Given the description of an element on the screen output the (x, y) to click on. 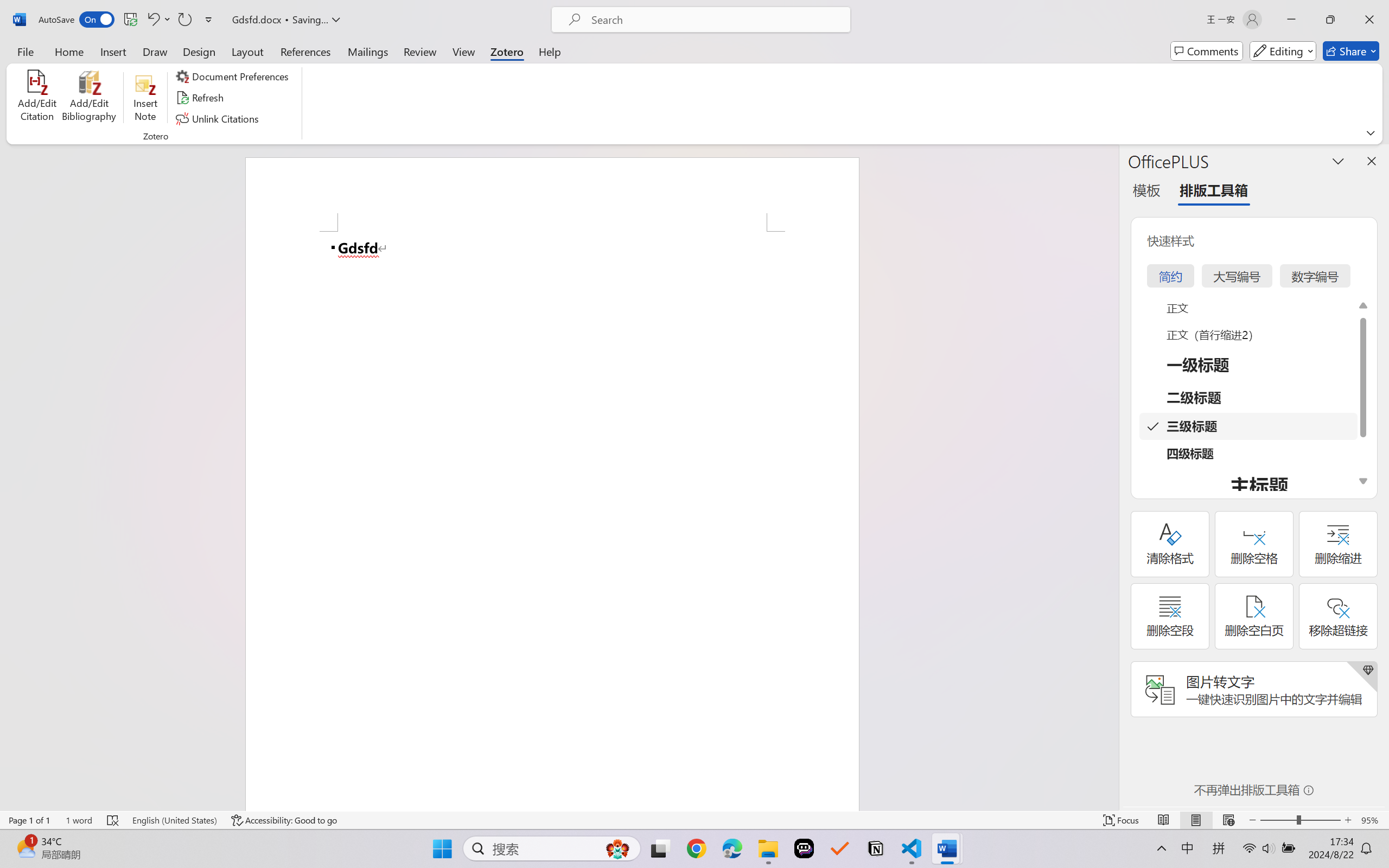
Refresh (201, 97)
Insert Note (145, 97)
Add/Edit Bibliography (88, 97)
Spelling and Grammar Check Errors (113, 819)
